Given the description of an element on the screen output the (x, y) to click on. 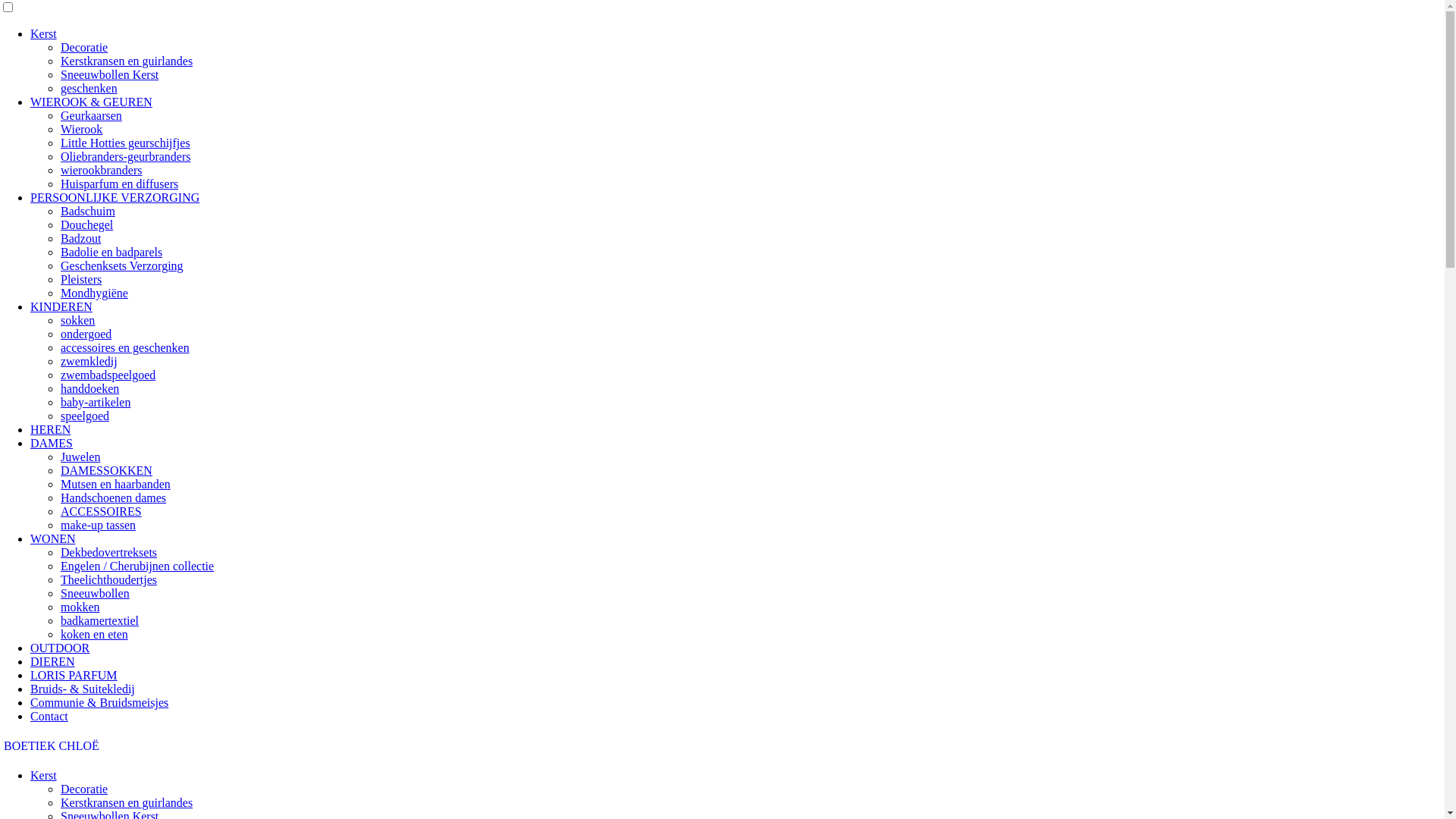
Bruids- & Suitekledij Element type: text (82, 688)
WIEROOK & GEUREN Element type: text (91, 101)
Pleisters Element type: text (80, 279)
zwembadspeelgoed Element type: text (107, 374)
HEREN Element type: text (50, 429)
Handschoenen dames Element type: text (113, 497)
badkamertextiel Element type: text (99, 620)
Geurkaarsen Element type: text (91, 115)
Communie & Bruidsmeisjes Element type: text (99, 702)
Decoratie Element type: text (83, 46)
zwemkledij Element type: text (88, 360)
Contact Element type: text (49, 715)
Dekbedovertreksets Element type: text (108, 552)
LORIS PARFUM Element type: text (73, 674)
Geschenksets Verzorging Element type: text (121, 265)
Wierook Element type: text (81, 128)
Juwelen Element type: text (80, 456)
ondergoed Element type: text (85, 333)
koken en eten Element type: text (94, 633)
KINDEREN Element type: text (61, 306)
mokken Element type: text (80, 606)
Kerst Element type: text (43, 774)
Theelichthoudertjes Element type: text (108, 579)
DAMES Element type: text (51, 442)
handdoeken Element type: text (89, 388)
PERSOONLIJKE VERZORGING Element type: text (114, 197)
geschenken Element type: text (88, 87)
baby-artikelen Element type: text (95, 401)
Kerstkransen en guirlandes Element type: text (126, 802)
OUTDOOR Element type: text (59, 647)
DIEREN Element type: text (52, 661)
Engelen / Cherubijnen collectie Element type: text (136, 565)
speelgoed Element type: text (84, 415)
Badolie en badparels Element type: text (111, 251)
Sneeuwbollen Kerst Element type: text (109, 74)
Oliebranders-geurbranders Element type: text (125, 156)
Douchegel Element type: text (86, 224)
ACCESSOIRES Element type: text (100, 511)
Mutsen en haarbanden Element type: text (115, 483)
sokken Element type: text (77, 319)
Sneeuwbollen Element type: text (94, 592)
accessoires en geschenken Element type: text (124, 347)
Little Hotties geurschijfjes Element type: text (125, 142)
DAMESSOKKEN Element type: text (106, 470)
make-up tassen Element type: text (97, 524)
wierookbranders Element type: text (101, 169)
Kerst Element type: text (43, 33)
Decoratie Element type: text (83, 788)
Kerstkransen en guirlandes Element type: text (126, 60)
Badschuim Element type: text (87, 210)
Badzout Element type: text (80, 238)
WONEN Element type: text (52, 538)
Huisparfum en diffusers Element type: text (119, 183)
